Given the description of an element on the screen output the (x, y) to click on. 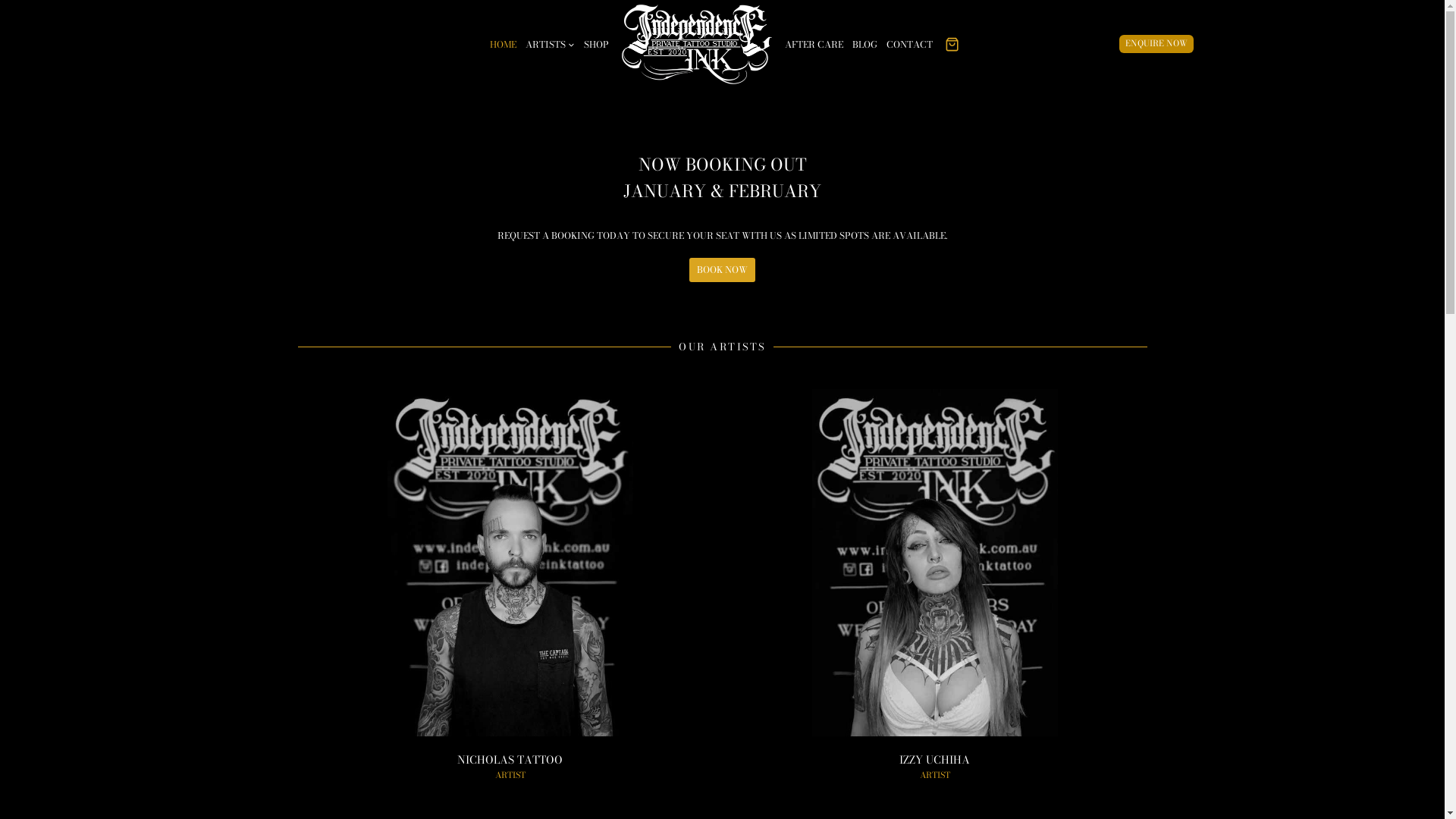
AFTER CARE Element type: text (813, 43)
BOOK NOW Element type: text (722, 269)
BLOG Element type: text (864, 43)
ENQUIRE NOW Element type: text (1155, 43)
HOME Element type: text (502, 43)
SHOP Element type: text (596, 43)
CONTACT Element type: text (909, 43)
ARTISTS Element type: text (549, 43)
